Given the description of an element on the screen output the (x, y) to click on. 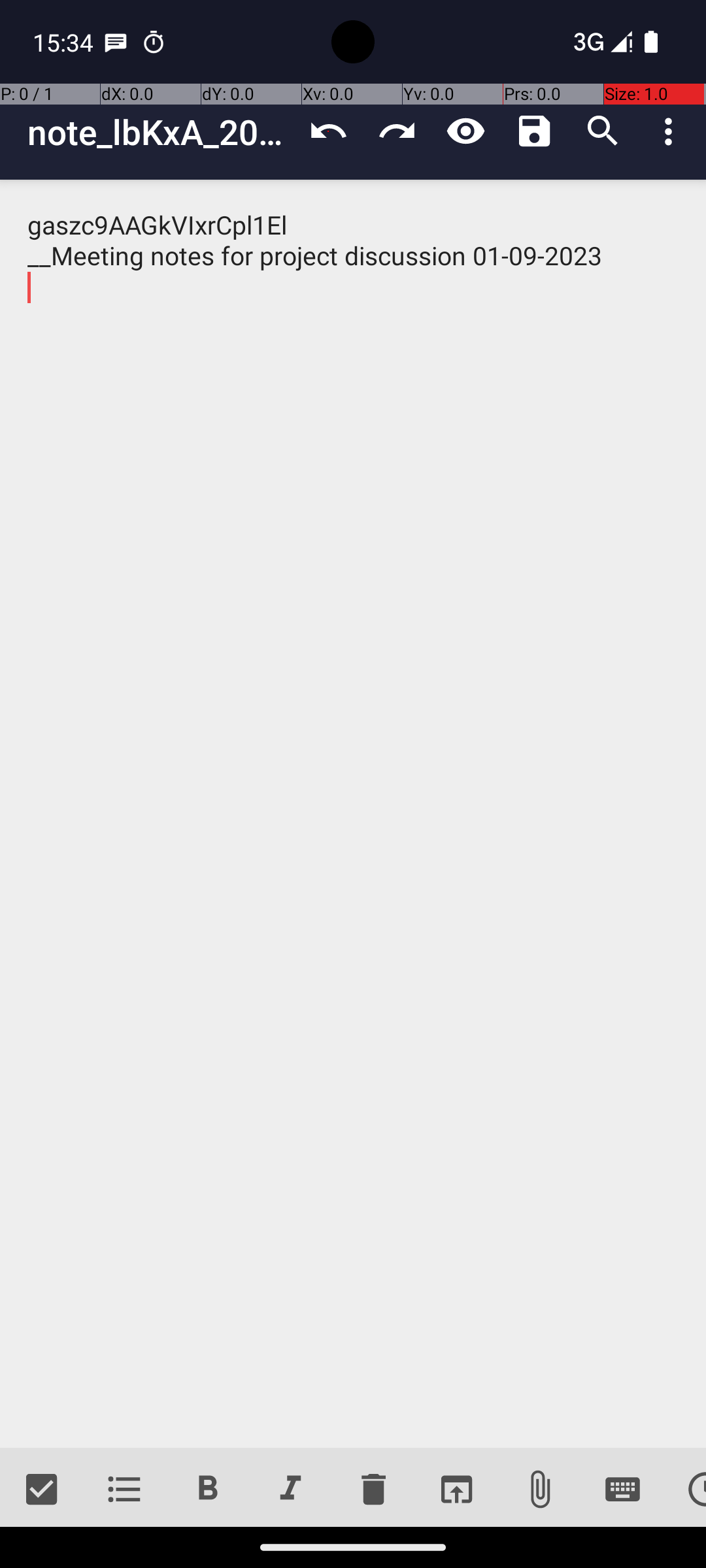
note_lbKxA_2023_01_09 Element type: android.widget.TextView (160, 131)
gaszc9AAGkVIxrCpl1El
__Meeting notes for project discussion 01-09-2023
 Element type: android.widget.EditText (353, 813)
